Given the description of an element on the screen output the (x, y) to click on. 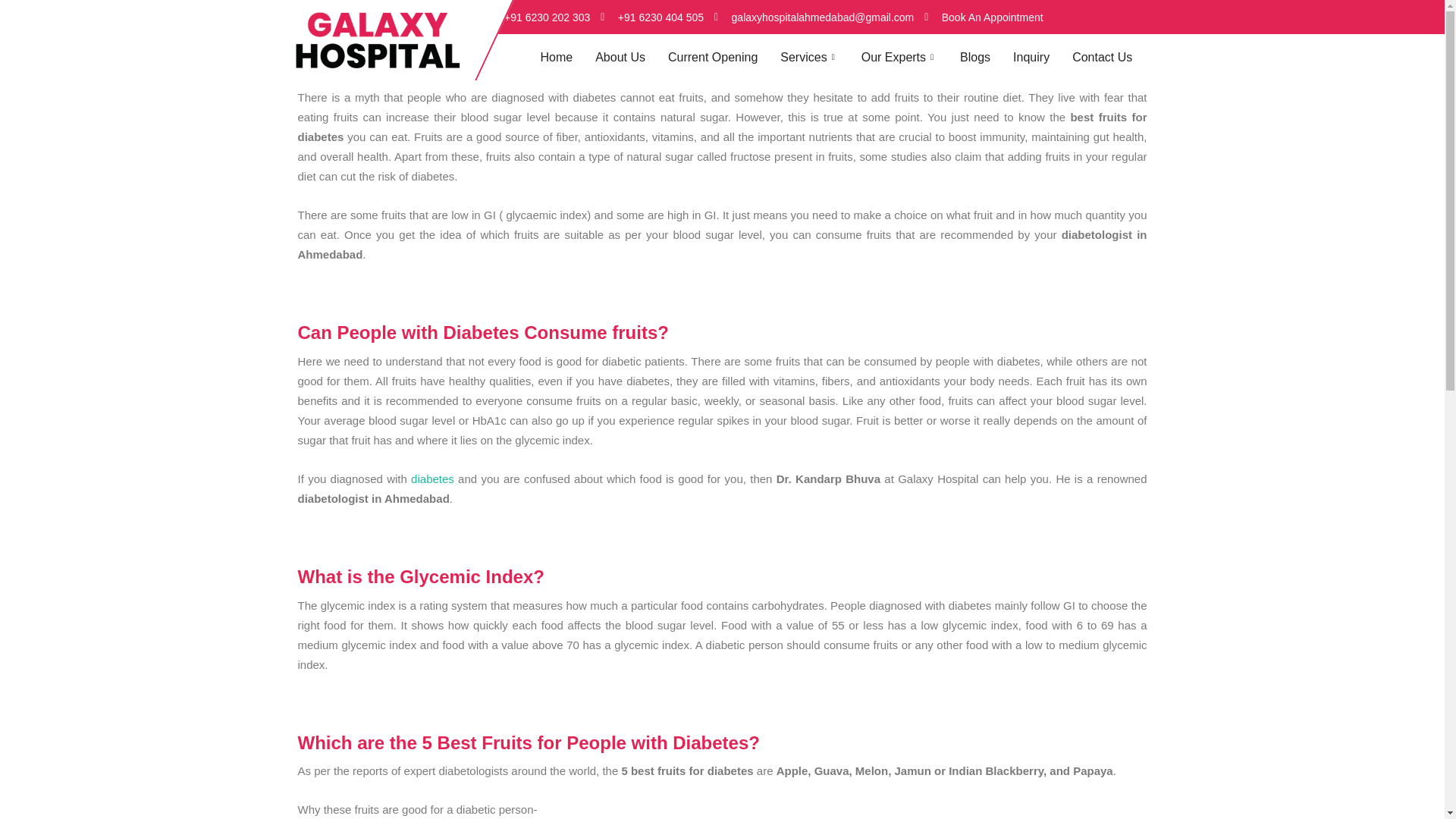
Blogs (986, 57)
logo (376, 39)
Inquiry (1042, 57)
Contact Us (1101, 57)
diabetes (432, 478)
Book An Appointment (983, 17)
Home (567, 57)
Services (820, 57)
About Us (631, 57)
Current Opening (724, 57)
